Given the description of an element on the screen output the (x, y) to click on. 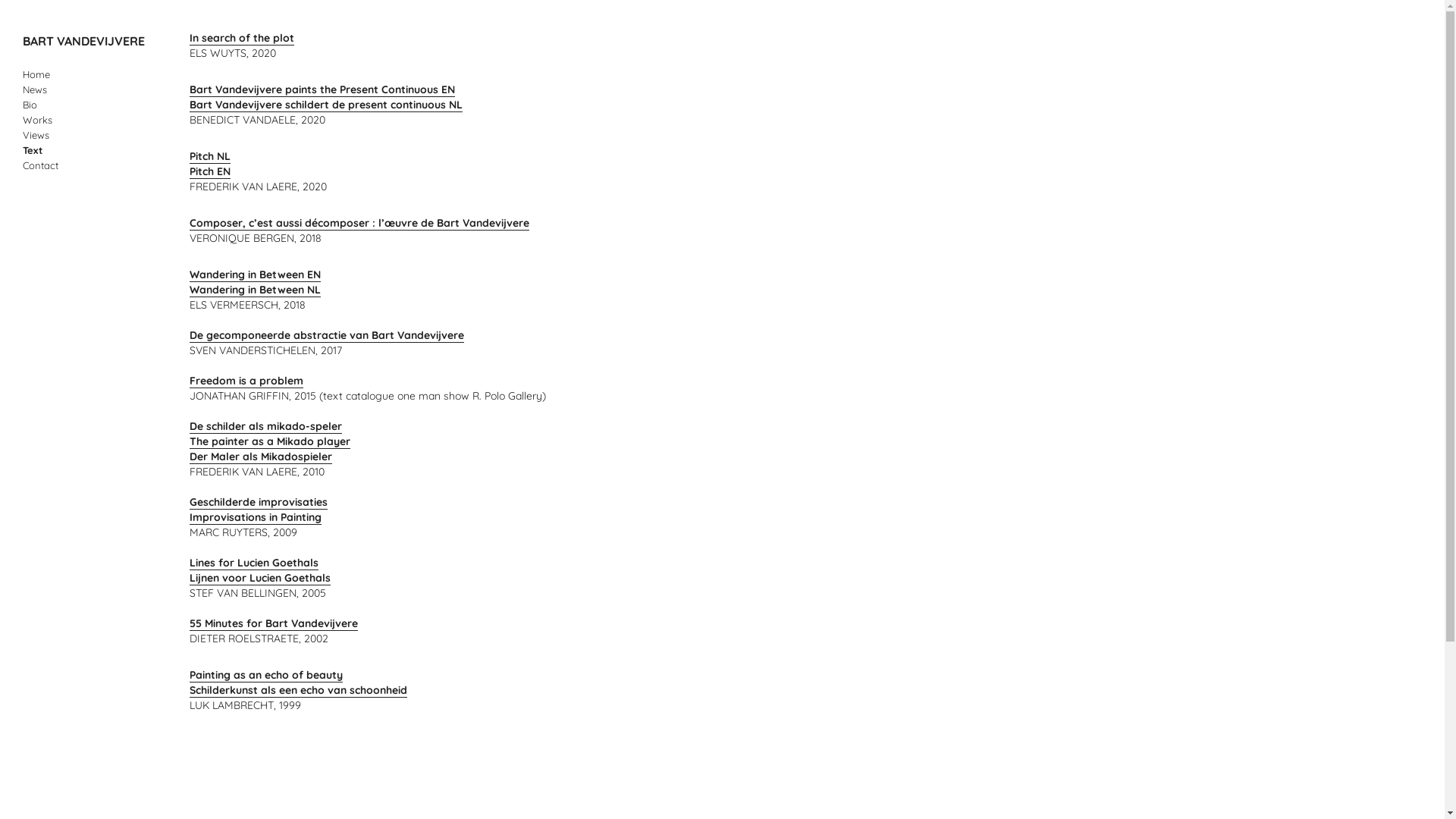
De gecomponeerde abstractie van Bart Vandevijvere Element type: text (326, 335)
Skip to content Element type: text (58, 73)
Contact Element type: text (40, 165)
Bio Element type: text (29, 104)
In search of the plot Element type: text (241, 38)
Views Element type: text (35, 134)
Schilderkunst als een echo van schoonheid Element type: text (298, 690)
Pitch NL Element type: text (209, 156)
Pitch EN Element type: text (209, 171)
De schilder als mikado-speler Element type: text (265, 426)
Geschilderde improvisaties Element type: text (258, 502)
Lines for Lucien Goethals Element type: text (253, 562)
Bart Vandevijvere paints the Present Continuous EN Element type: text (322, 89)
Freedom is a problem Element type: text (246, 380)
55 Minutes for Bart Vandevijvere Element type: text (273, 623)
The painter as a Mikado player Element type: text (269, 441)
Text Element type: text (32, 150)
Painting as an echo of beauty Element type: text (265, 675)
Home Element type: text (36, 74)
Wandering in Between EN Element type: text (254, 274)
Improvisations in Painting Element type: text (255, 517)
Lijnen voor Lucien Goethals Element type: text (259, 578)
Wandering in Between NL Element type: text (254, 289)
Der Maler als Mikadospieler Element type: text (260, 456)
Bart Vandevijvere schildert de present continuous NL Element type: text (325, 104)
Works Element type: text (37, 119)
BART VANDEVIJVERE Element type: text (83, 40)
News Element type: text (34, 89)
